Given the description of an element on the screen output the (x, y) to click on. 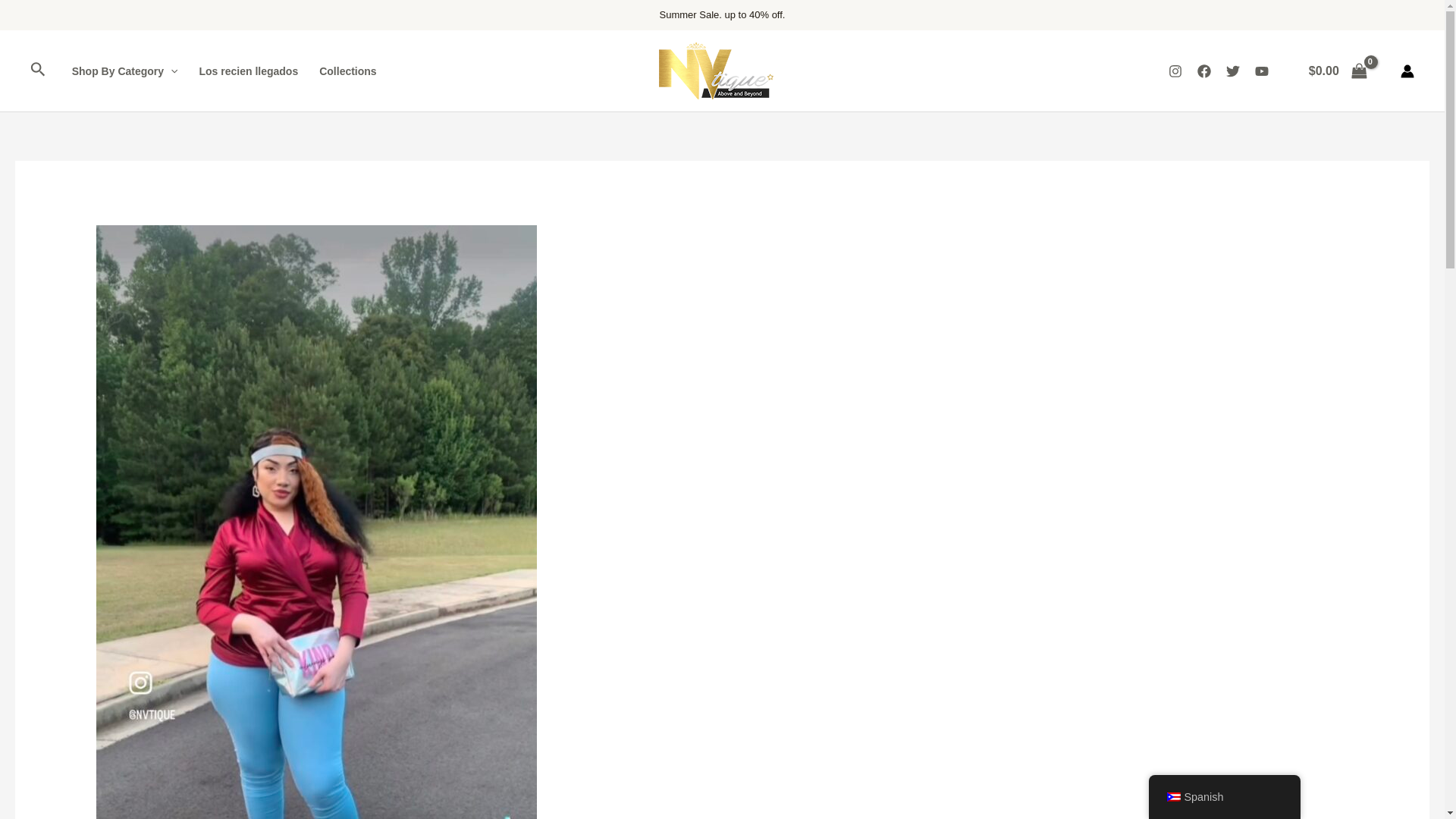
Collections (347, 70)
Spanish (1172, 796)
Shop By Category (125, 70)
Los recien llegados (247, 70)
